Given the description of an element on the screen output the (x, y) to click on. 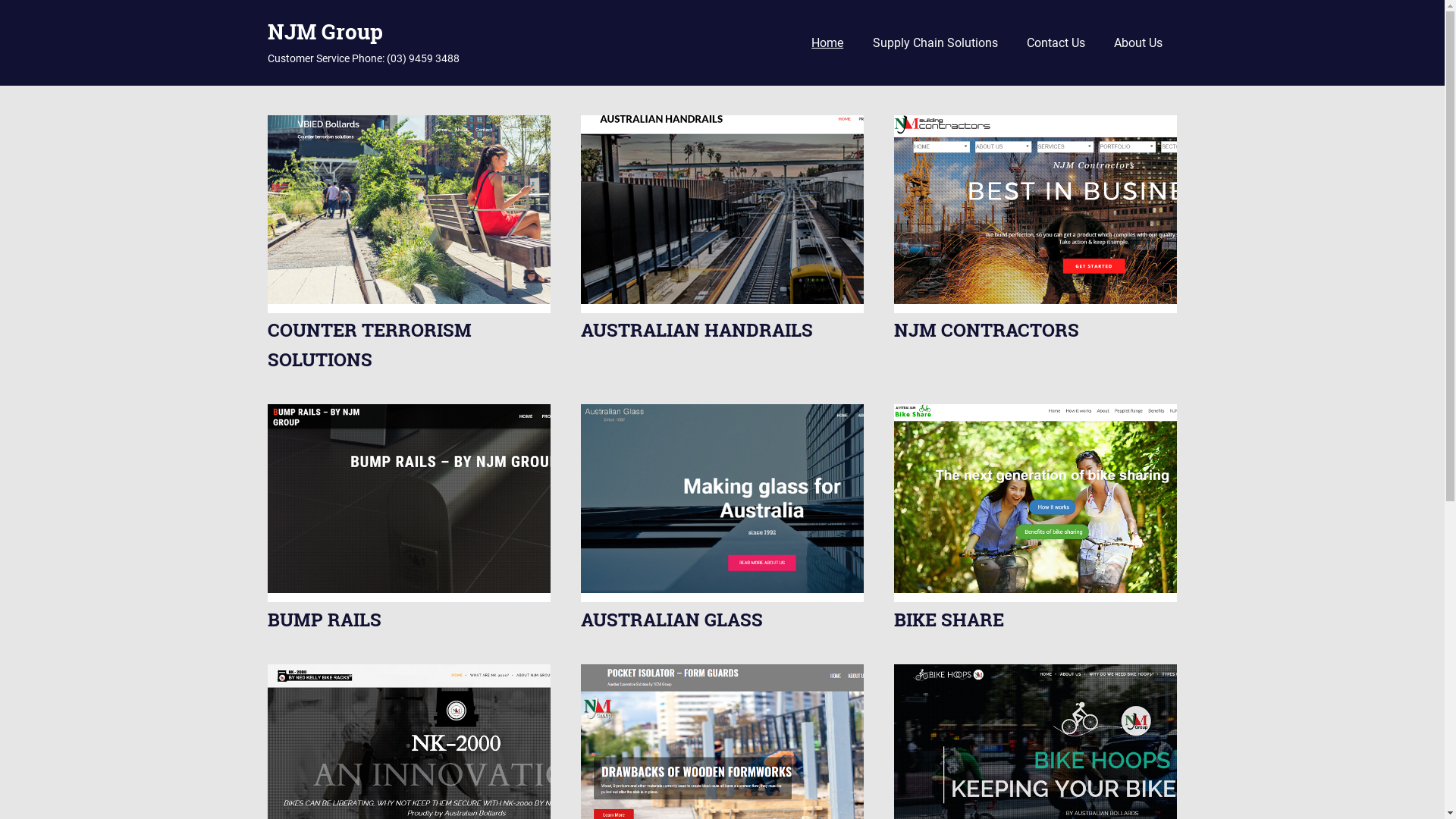
AUSTRALIAN HANDRAILS Element type: text (696, 329)
NJM CONTRACTORS Element type: text (986, 329)
Contact Us Element type: text (1055, 43)
NJM Group Element type: text (324, 31)
About Us Element type: text (1137, 43)
BUMP RAILS Element type: text (323, 619)
BIKE SHARE Element type: text (949, 619)
Supply Chain Solutions Element type: text (934, 43)
Skip to content Element type: text (0, 84)
AUSTRALIAN GLASS Element type: text (671, 619)
COUNTER TERRORISM SOLUTIONS Element type: text (368, 343)
Home Element type: text (827, 43)
